Given the description of an element on the screen output the (x, y) to click on. 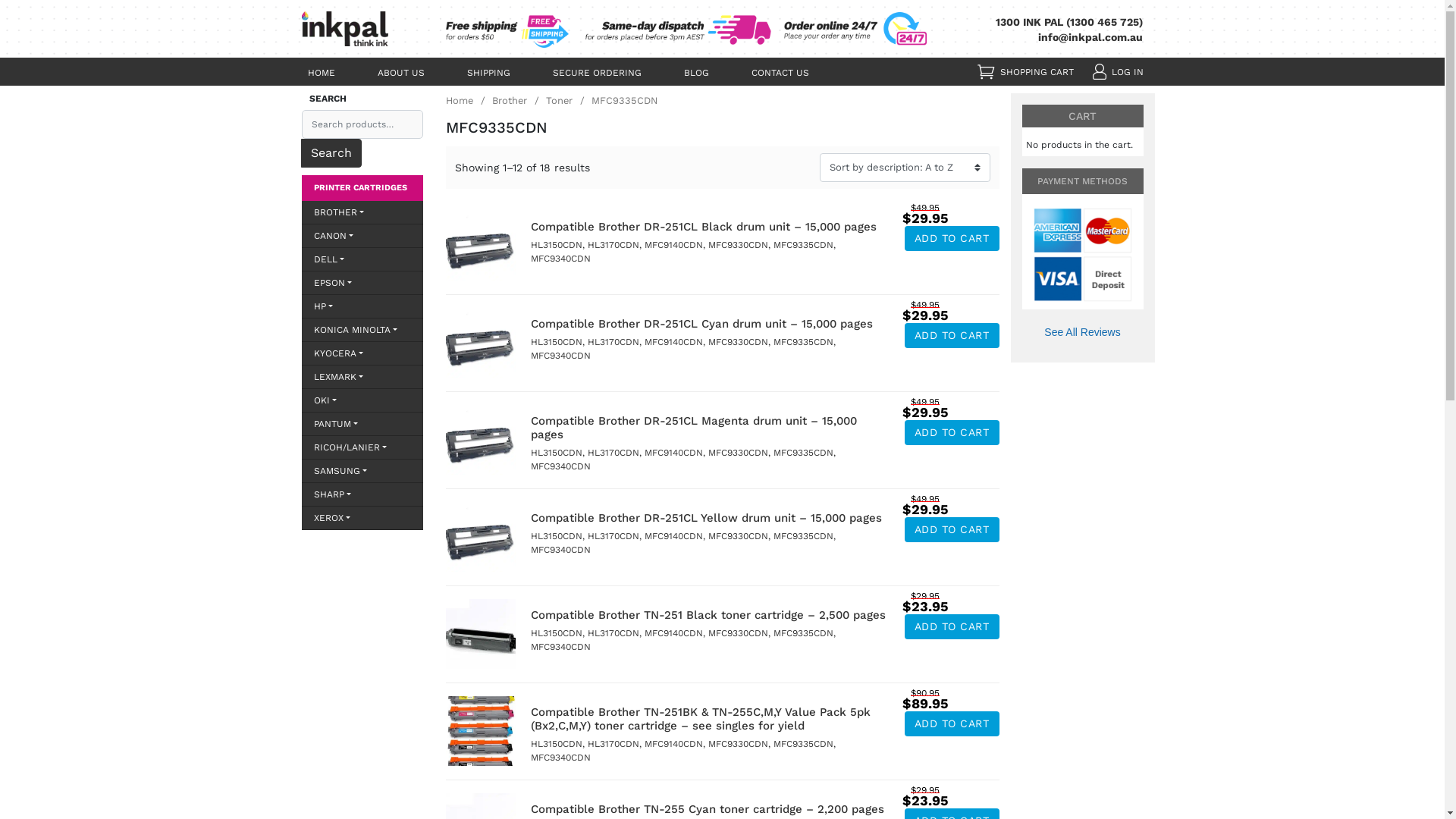
SHARP Element type: text (362, 494)
HL3150CDN Element type: text (556, 632)
ADD TO CART Element type: text (950, 723)
MFC9330CDN Element type: text (738, 341)
ADD TO CART Element type: text (950, 238)
MFC9330CDN Element type: text (738, 632)
HL3170CDN Element type: text (612, 535)
MFC9140CDN Element type: text (673, 341)
MFC9140CDN Element type: text (673, 632)
MFC9330CDN Element type: text (738, 535)
LOG IN Element type: text (1127, 71)
HL3170CDN Element type: text (612, 244)
Home Element type: text (468, 100)
EPSON Element type: text (362, 282)
KYOCERA Element type: text (362, 353)
CANON Element type: text (362, 235)
MFC9330CDN Element type: text (738, 452)
HL3150CDN Element type: text (556, 452)
ADD TO CART Element type: text (950, 529)
LEXMARK Element type: text (362, 376)
MFC9340CDN Element type: text (560, 355)
HL3150CDN Element type: text (556, 244)
SECURE ORDERING Element type: text (596, 71)
HL3150CDN Element type: text (556, 743)
MFC9330CDN Element type: text (738, 244)
MFC9335CDN Element type: text (803, 244)
Toner Element type: text (568, 100)
HL3170CDN Element type: text (612, 743)
HP Element type: text (362, 305)
MFC9340CDN Element type: text (560, 549)
RICOH/LANIER Element type: text (362, 447)
MFC9140CDN Element type: text (673, 743)
1300 INK PAL (1300 465 725) Element type: text (1068, 21)
Brother Element type: text (518, 100)
MFC9140CDN Element type: text (673, 535)
See All Reviews Element type: text (1082, 331)
MFC9335CDN Element type: text (803, 743)
CONTACT US Element type: text (779, 71)
HL3170CDN Element type: text (612, 632)
KONICA MINOLTA Element type: text (362, 329)
HL3150CDN Element type: text (556, 535)
HL3170CDN Element type: text (612, 452)
MFC9340CDN Element type: text (560, 646)
ADD TO CART Element type: text (950, 335)
OKI Element type: text (362, 400)
MFC9340CDN Element type: text (560, 466)
DELL Element type: text (362, 258)
MFC9335CDN Element type: text (803, 535)
MFC9335CDN Element type: text (803, 632)
MFC9330CDN Element type: text (738, 743)
Skip to content Element type: text (1443, 0)
HL3170CDN Element type: text (612, 341)
MFC9140CDN Element type: text (673, 244)
BLOG Element type: text (696, 71)
XEROX Element type: text (362, 517)
MFC9335CDN Element type: text (803, 452)
info@inkpal.com.au Element type: text (1090, 37)
Search Element type: text (330, 152)
BROTHER Element type: text (362, 211)
SHOPPING CART Element type: text (1036, 71)
MFC9140CDN Element type: text (673, 452)
MFC9340CDN Element type: text (560, 258)
HOME Element type: text (321, 71)
SHIPPING Element type: text (488, 71)
SAMSUNG Element type: text (362, 470)
ADD TO CART Element type: text (950, 626)
ADD TO CART Element type: text (950, 432)
MFC9335CDN Element type: text (803, 341)
PANTUM Element type: text (362, 423)
ABOUT US Element type: text (400, 71)
HL3150CDN Element type: text (556, 341)
MFC9340CDN Element type: text (560, 757)
